Given the description of an element on the screen output the (x, y) to click on. 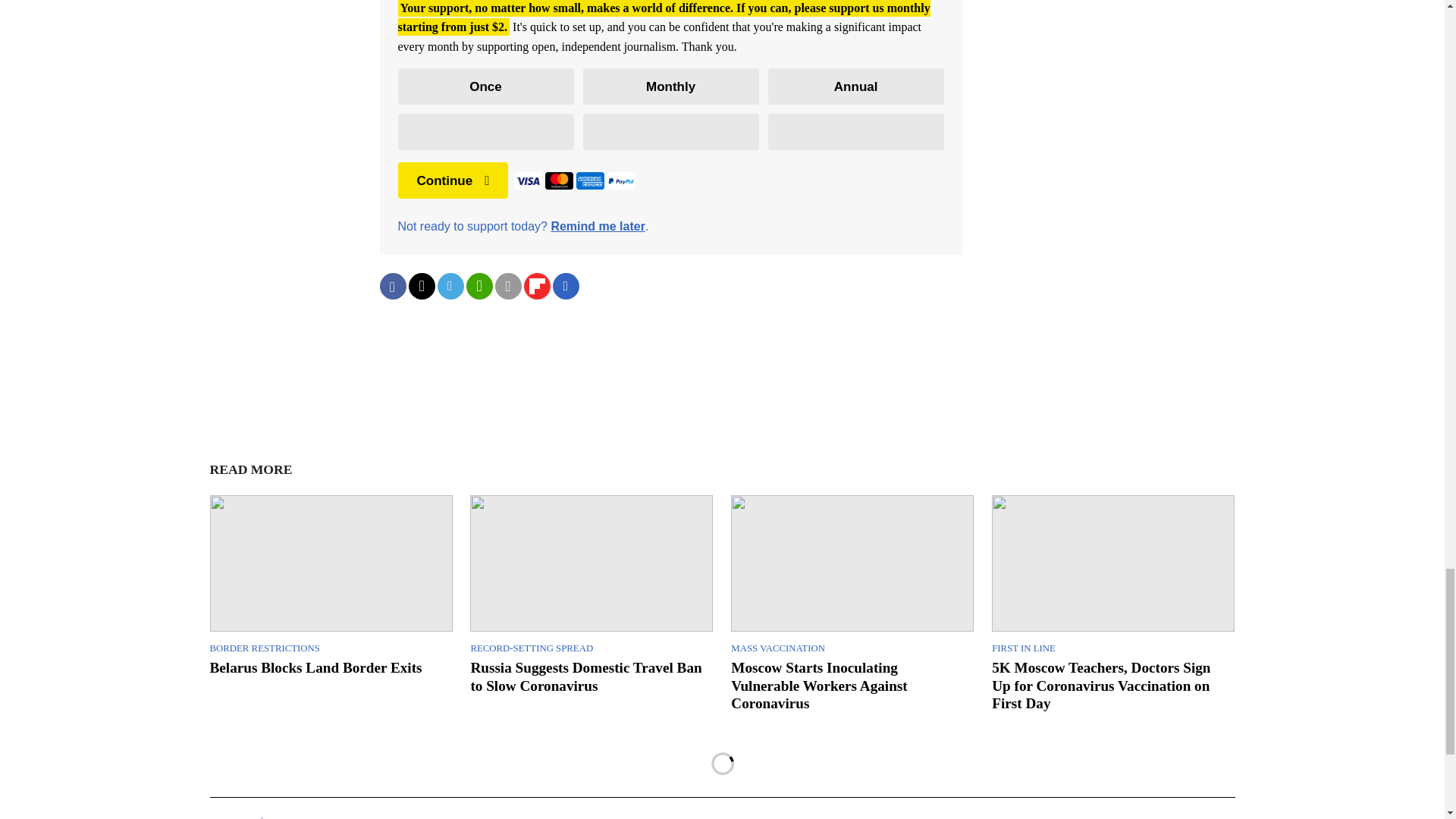
Share on Facebook (392, 285)
Share on Flipboard (536, 285)
Share on Twitter (420, 285)
Share on Telegram (449, 285)
Share with email (508, 285)
Share on WhatsApp (478, 285)
